Given the description of an element on the screen output the (x, y) to click on. 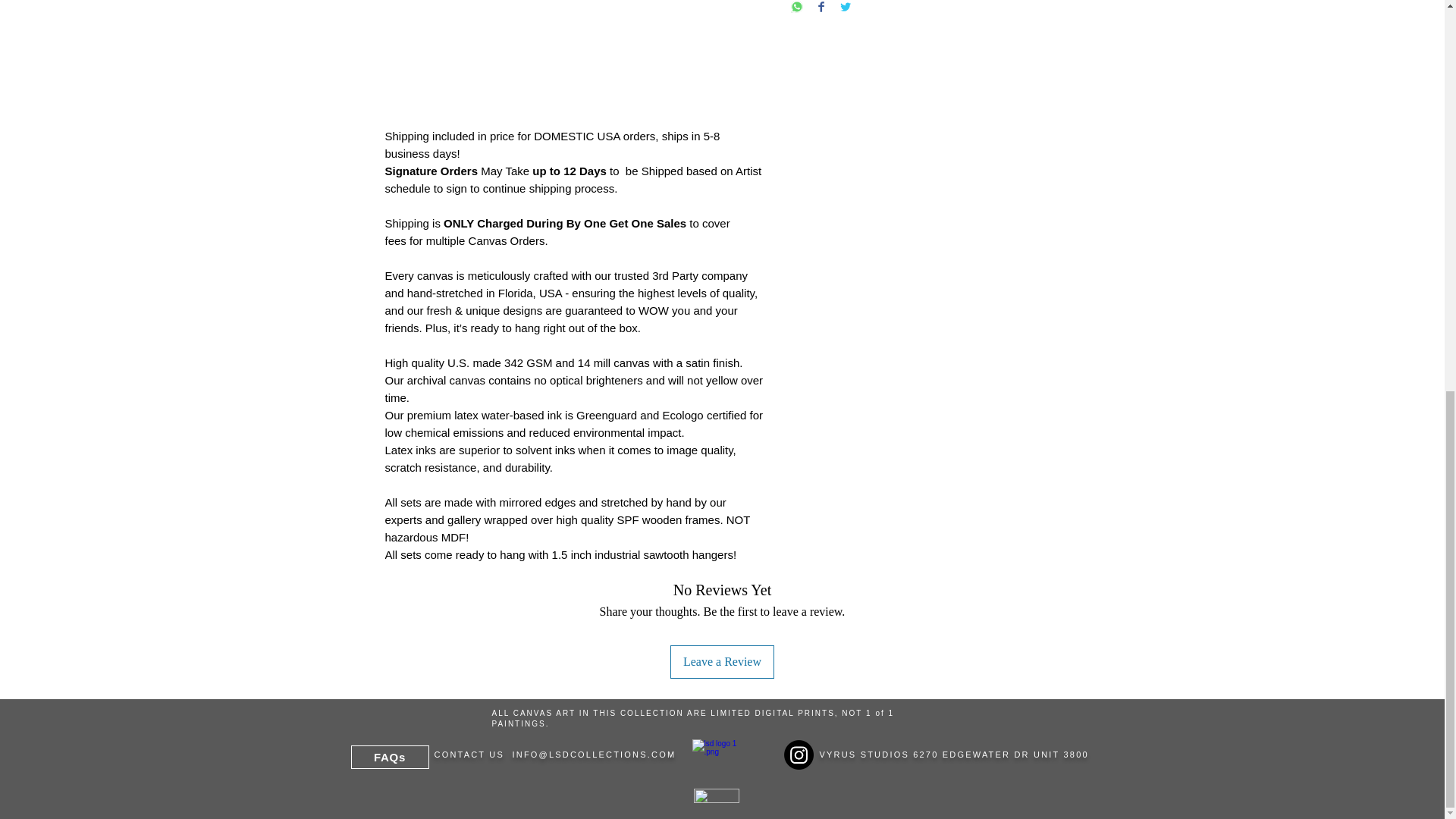
Leave a Review (721, 661)
FAQs (389, 757)
